Given the description of an element on the screen output the (x, y) to click on. 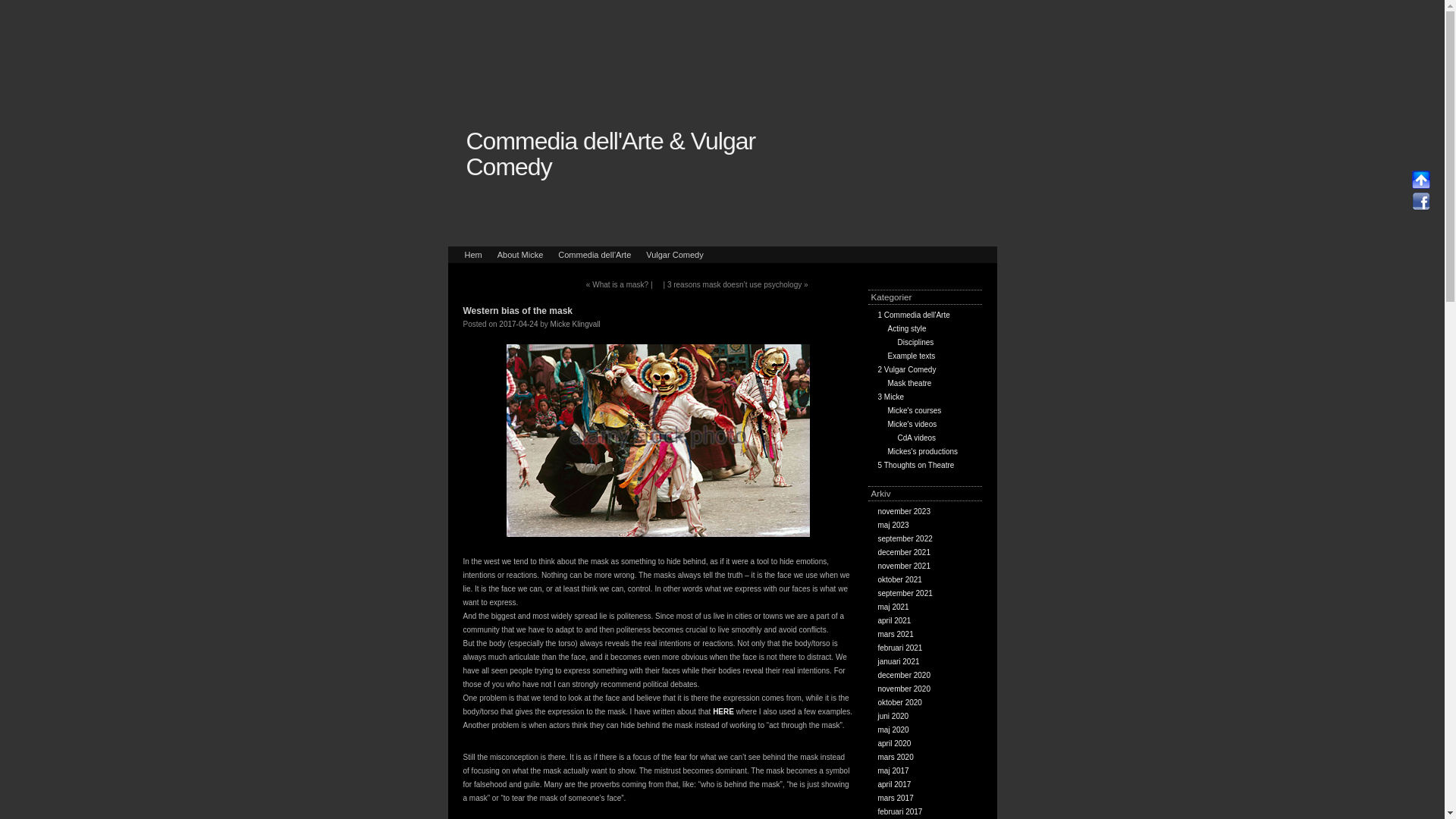
Hem (473, 254)
About Micke (520, 254)
Vulgar Comedy (674, 254)
View all posts by Micke Klingvall (574, 324)
